Given the description of an element on the screen output the (x, y) to click on. 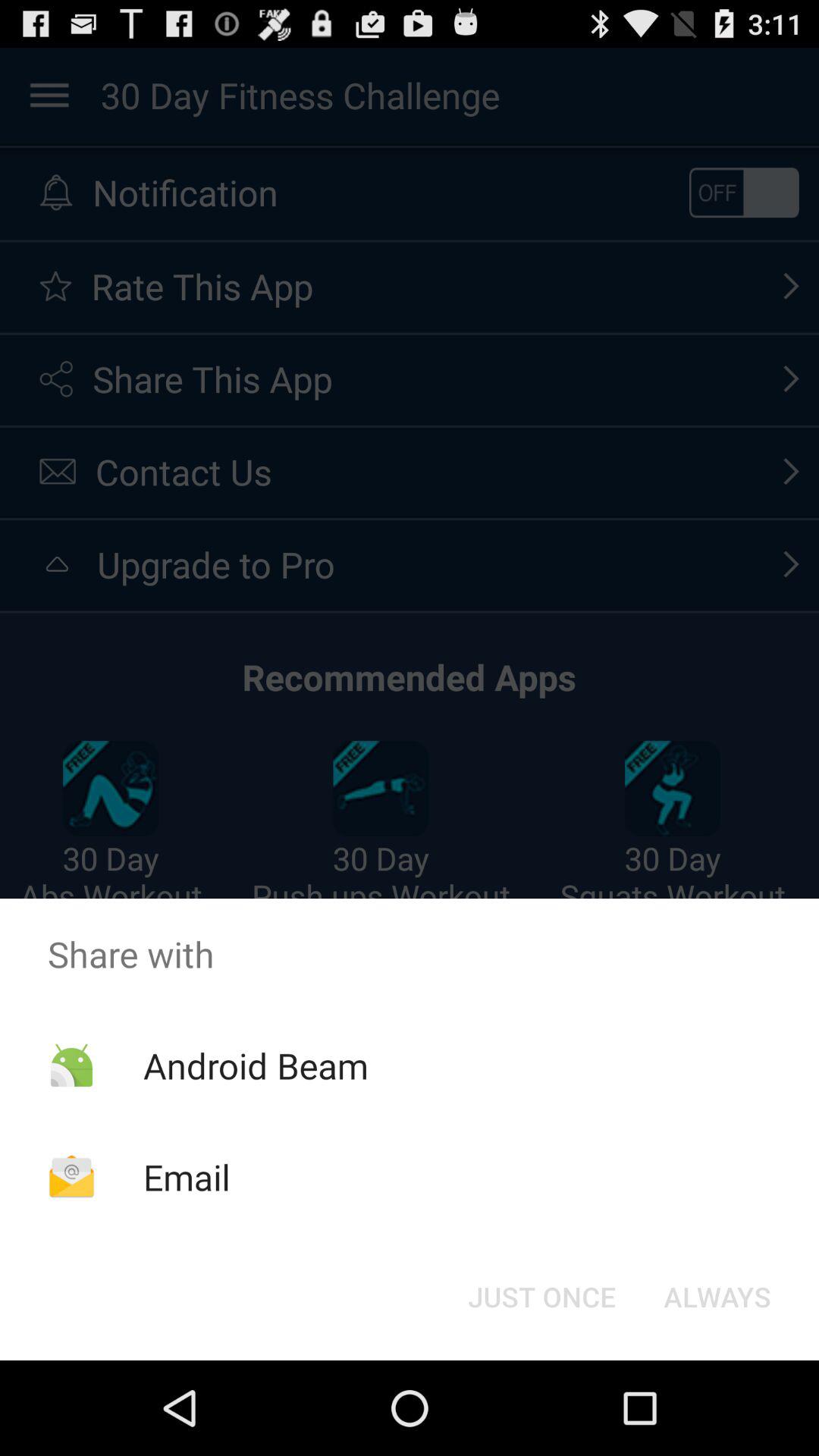
launch app below android beam icon (186, 1176)
